Given the description of an element on the screen output the (x, y) to click on. 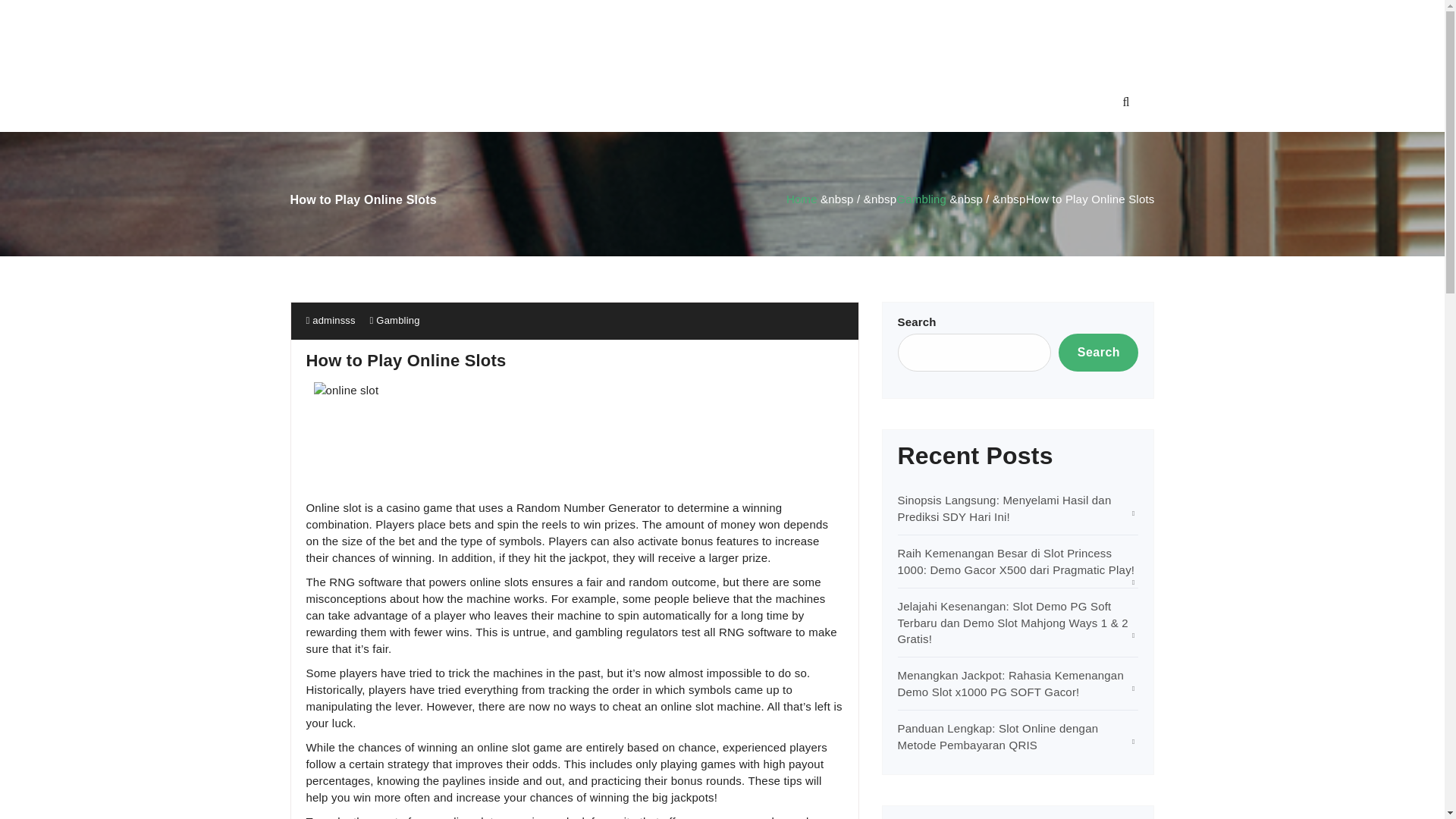
Search (1098, 352)
adminsss (330, 319)
Home (801, 198)
Panduan Lengkap: Slot Online dengan Metode Pembayaran QRIS (998, 736)
piadasidiotas (720, 35)
Gambling (397, 319)
Gambling (921, 198)
